Given the description of an element on the screen output the (x, y) to click on. 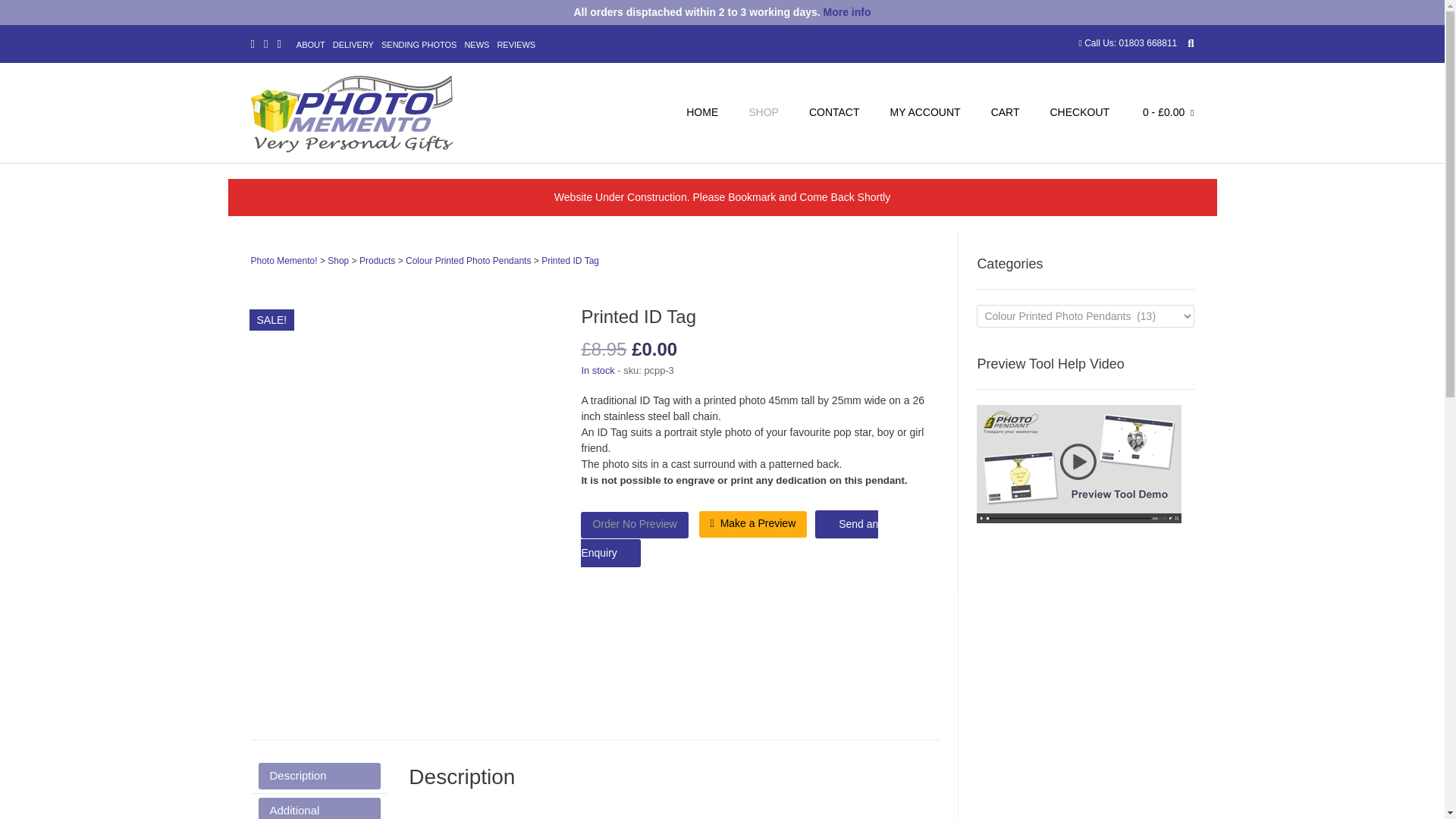
Order No Preview (633, 524)
Products (376, 260)
Description (318, 775)
Colour Printed Photo Pendants (468, 260)
Go to Photo Memento!. (283, 260)
MY ACCOUNT (925, 113)
Send an Enquiry (728, 539)
Make a Preview (753, 524)
Go to Shop. (338, 260)
Photo Memento! (283, 260)
